Given the description of an element on the screen output the (x, y) to click on. 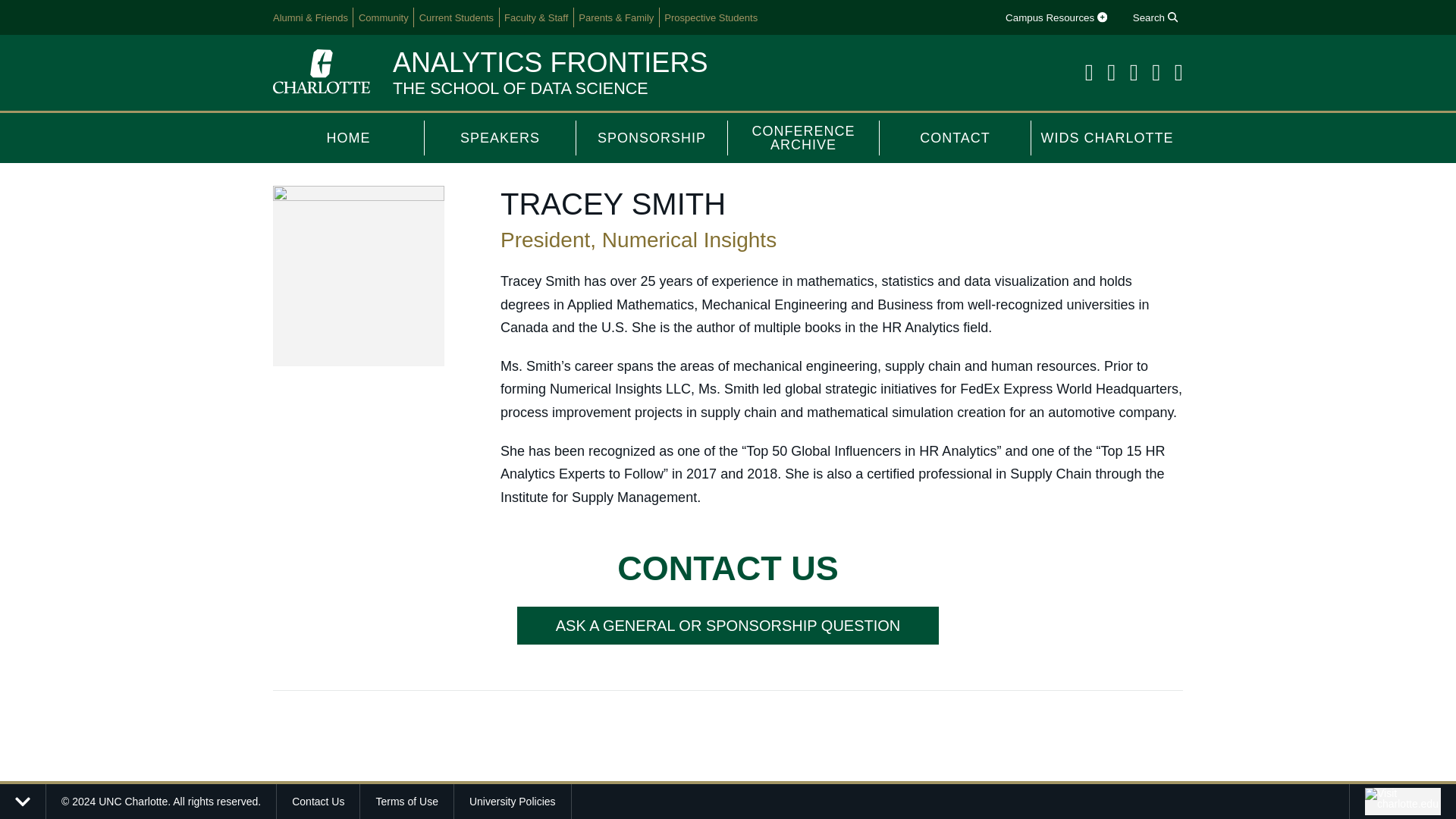
Current Students (456, 17)
Prospective Students (710, 17)
ANALYTICS FRONTIERS (550, 61)
Community (383, 17)
Search (1154, 16)
THE SCHOOL OF DATA SCIENCE (520, 87)
Campus Resources (1056, 16)
